Given the description of an element on the screen output the (x, y) to click on. 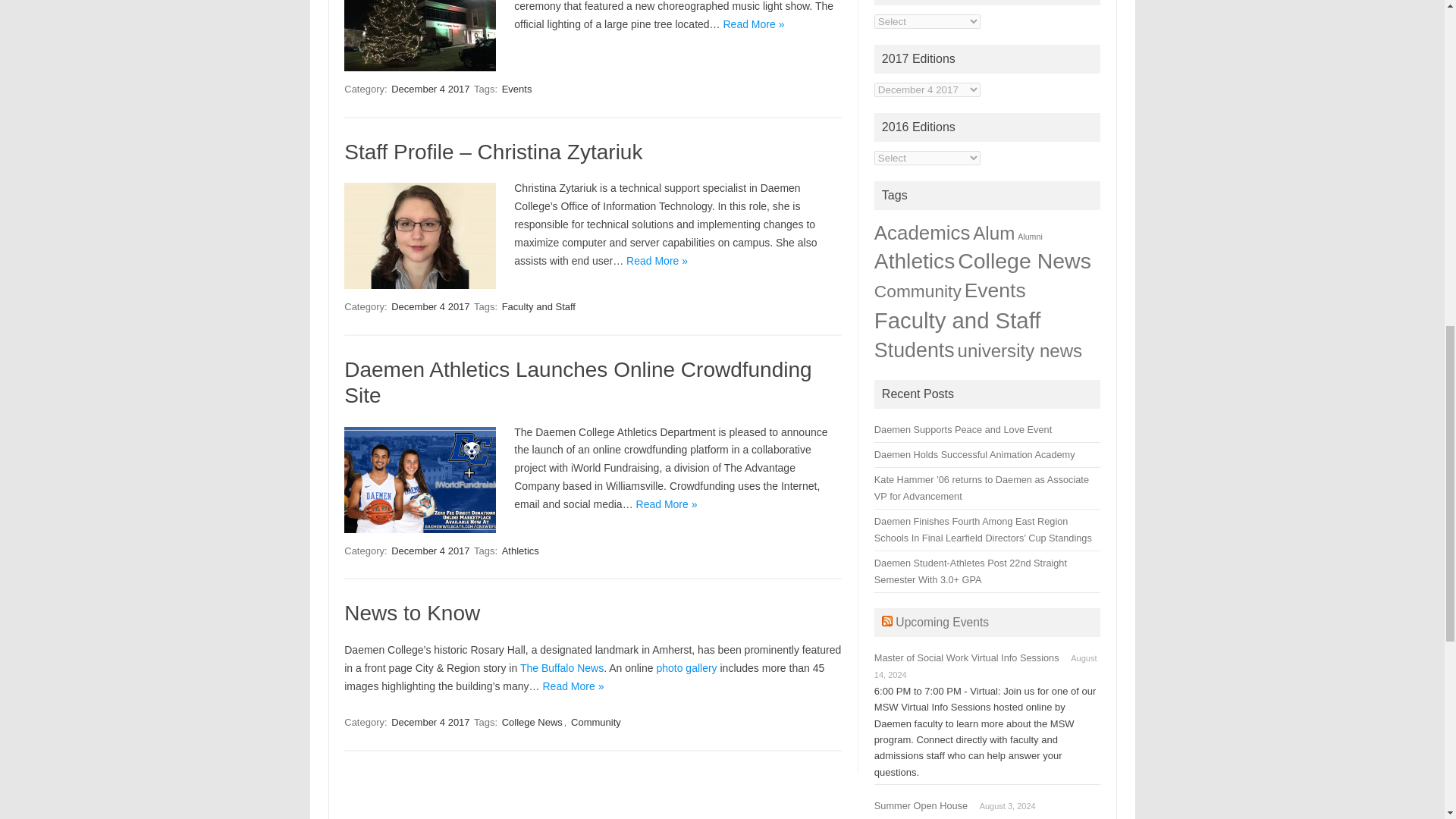
Permalink to News to Know (411, 612)
